Given the description of an element on the screen output the (x, y) to click on. 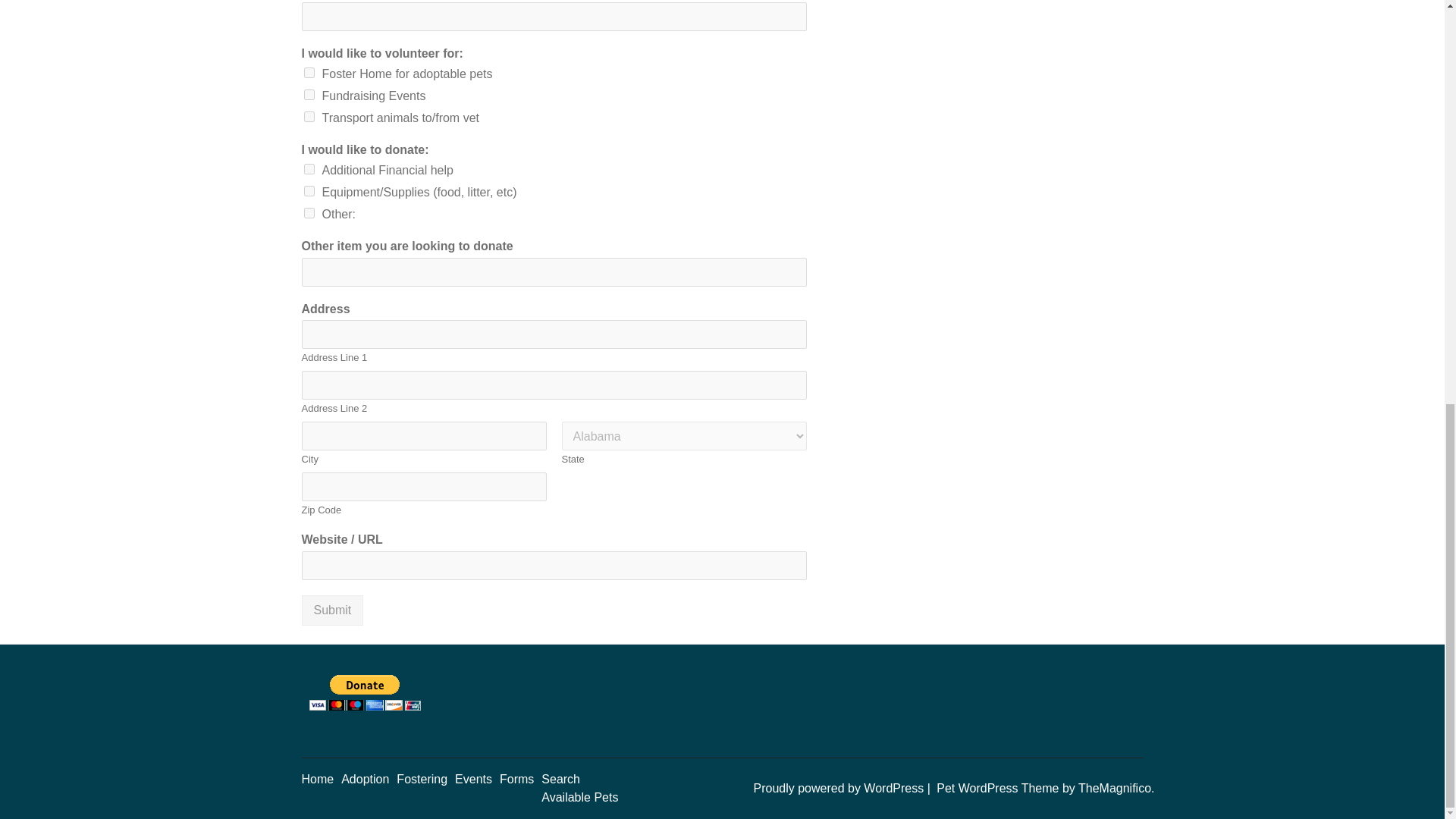
Additional Financial help (308, 168)
Home (317, 779)
Proudly powered by WordPress (839, 788)
Search Available Pets (579, 788)
Submit (332, 610)
Events (473, 779)
Forms (516, 779)
Foster Home for adoptable pets (308, 72)
Fostering (421, 779)
PayPal - The safer, easier way to pay online! (364, 692)
